Given the description of an element on the screen output the (x, y) to click on. 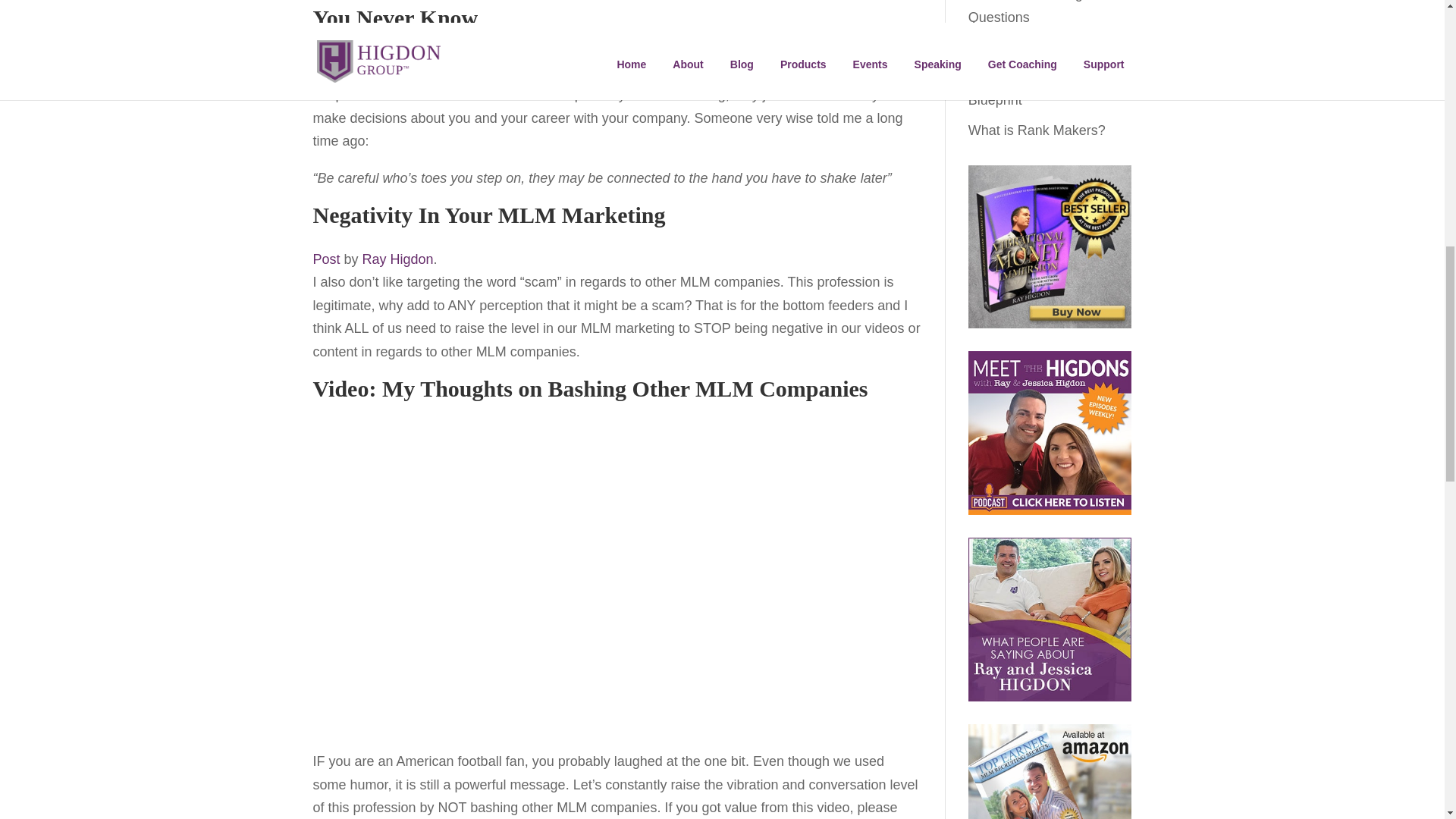
Ray Higdon (397, 258)
Post (326, 258)
